Given the description of an element on the screen output the (x, y) to click on. 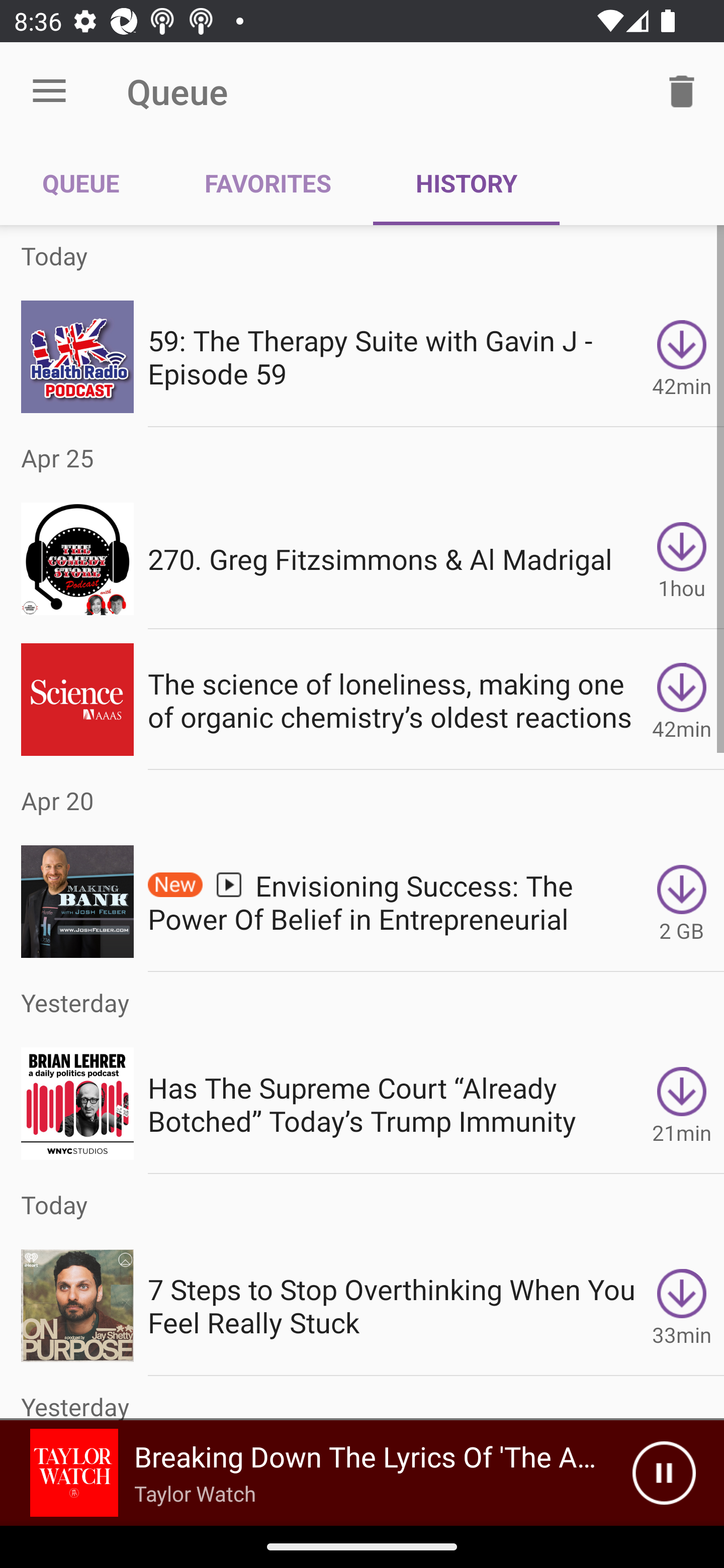
Open menu (49, 91)
Clear History (681, 90)
QUEUE (81, 183)
FAVORITES (267, 183)
HISTORY (465, 183)
Download 42min (681, 356)
Download 1hou (681, 558)
Download 42min (681, 698)
Download 2 GB (681, 901)
Download 21min (681, 1103)
Download 33min (681, 1305)
Pause (663, 1472)
